Given the description of an element on the screen output the (x, y) to click on. 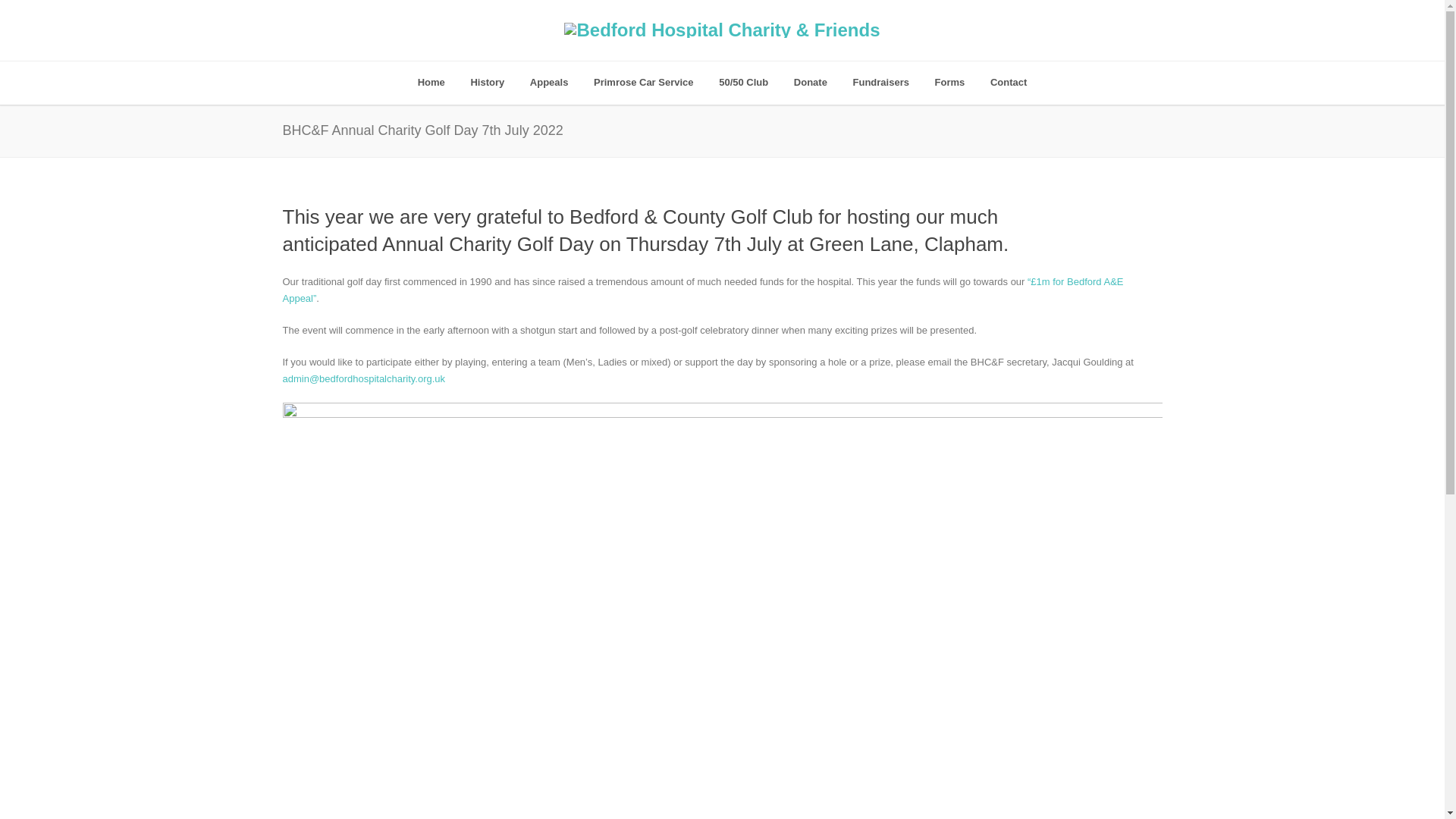
Contact (1008, 82)
Fundraisers (880, 82)
Appeals (548, 82)
History (486, 82)
Donate (810, 82)
Home (431, 82)
Primrose Car Service (643, 82)
Forms (949, 82)
